Given the description of an element on the screen output the (x, y) to click on. 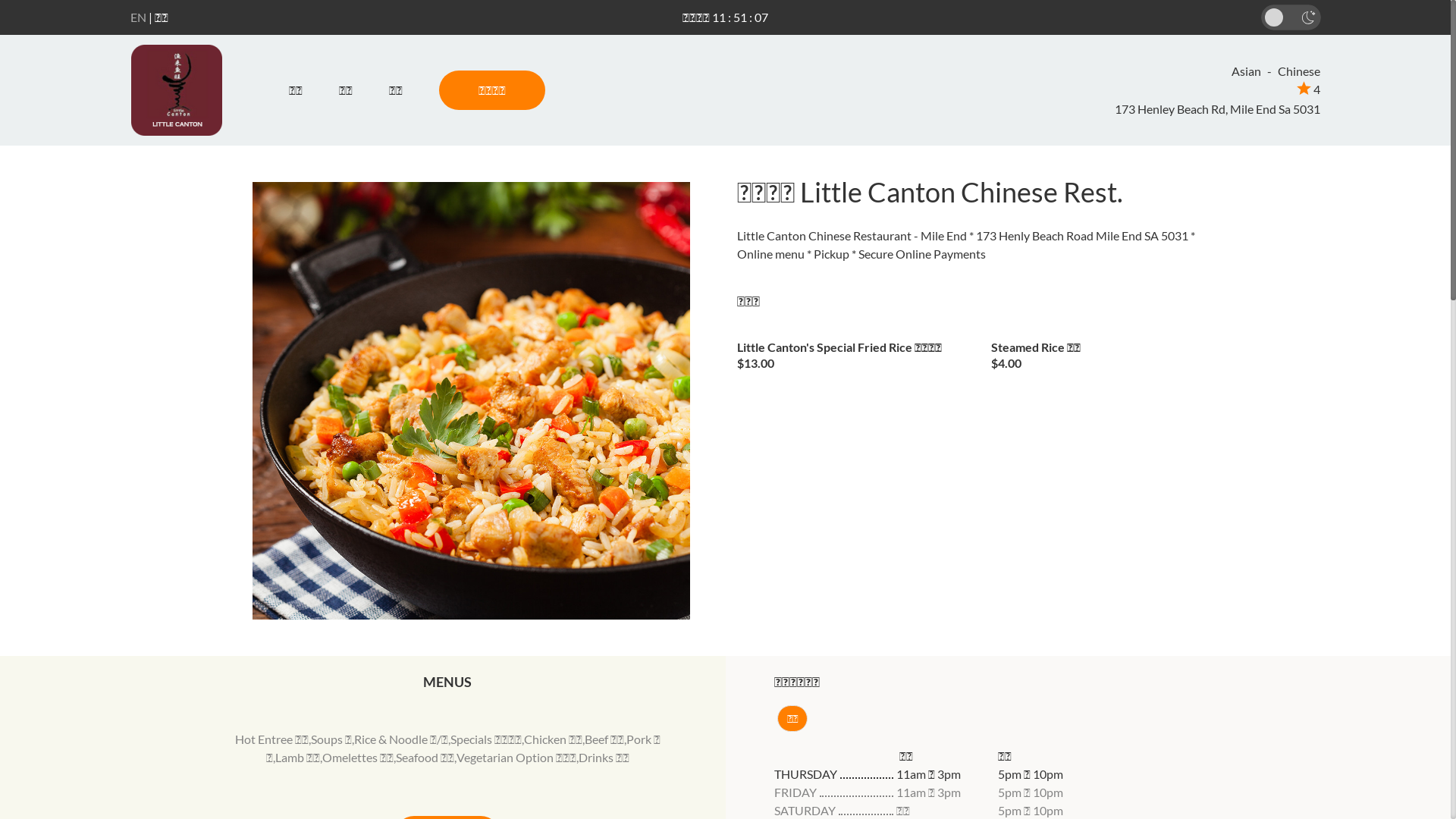
4 Element type: text (1308, 88)
EN Element type: text (138, 16)
